Given the description of an element on the screen output the (x, y) to click on. 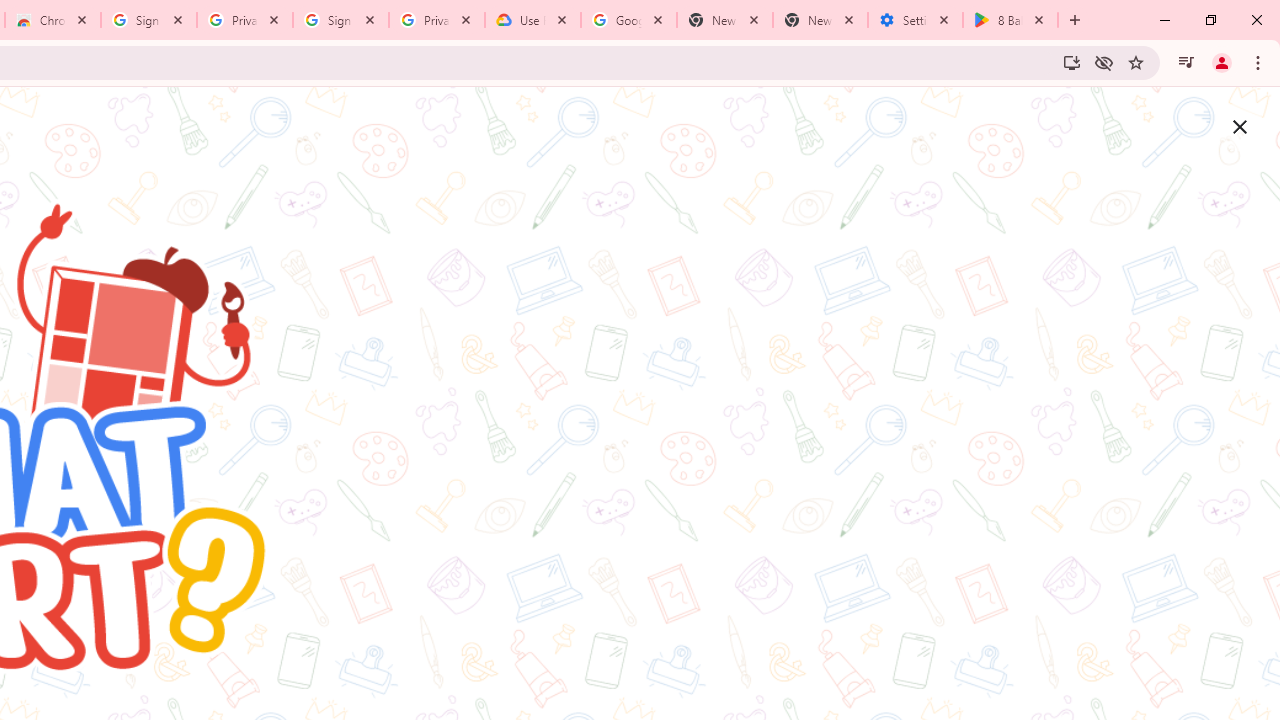
Settings - System (914, 20)
New Tab (820, 20)
Sign in - Google Accounts (341, 20)
Quit Game (1240, 126)
8 Ball Pool - Apps on Google Play (1010, 20)
